Given the description of an element on the screen output the (x, y) to click on. 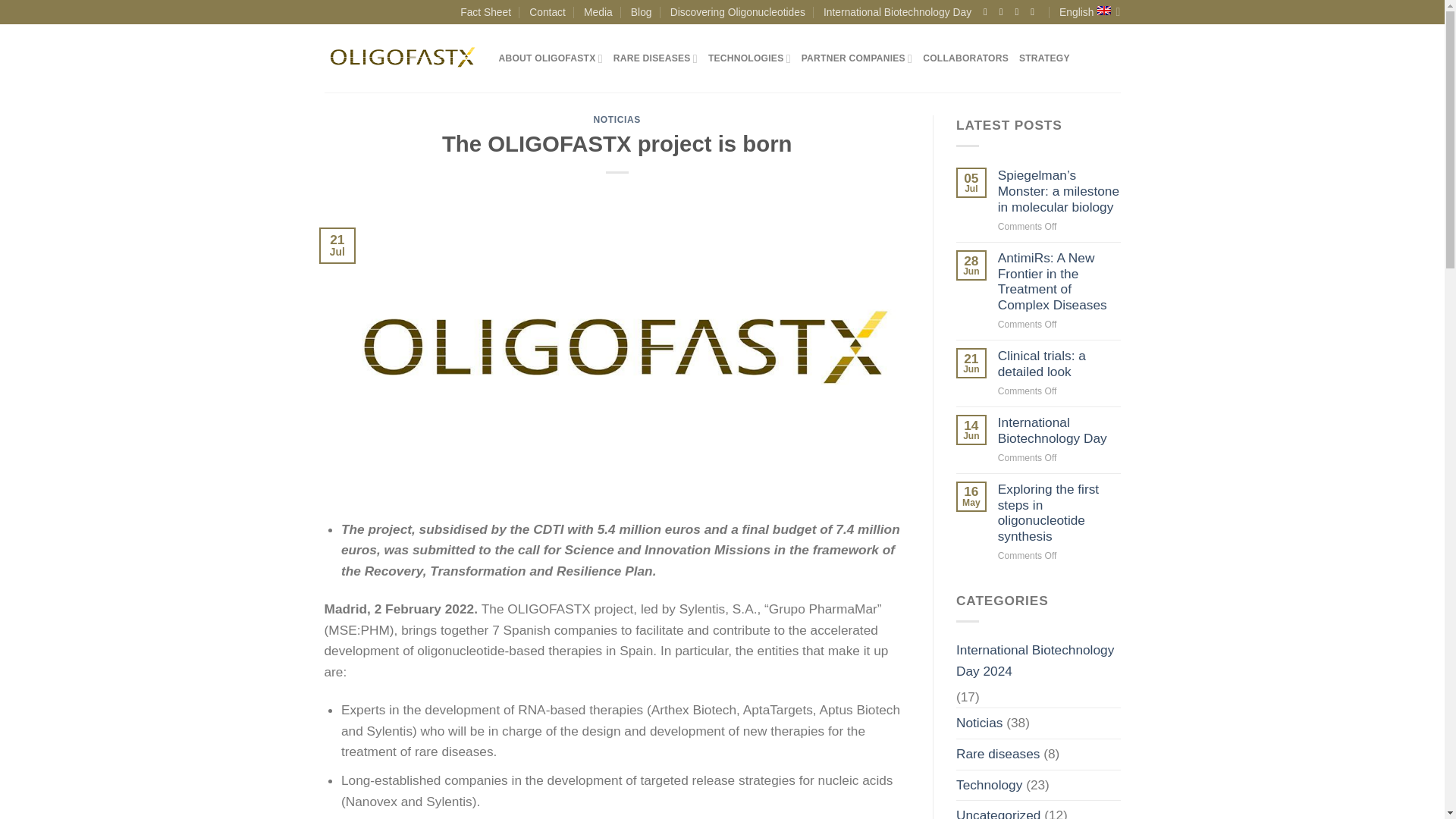
Discovering Oligonucleotides (737, 12)
Fact Sheet (485, 12)
Contact (547, 12)
TECHNOLOGIES (748, 58)
English (1089, 12)
Media (597, 12)
Clinical trials: a detailed look (1059, 363)
International Biotechnology Day (897, 12)
